Given the description of an element on the screen output the (x, y) to click on. 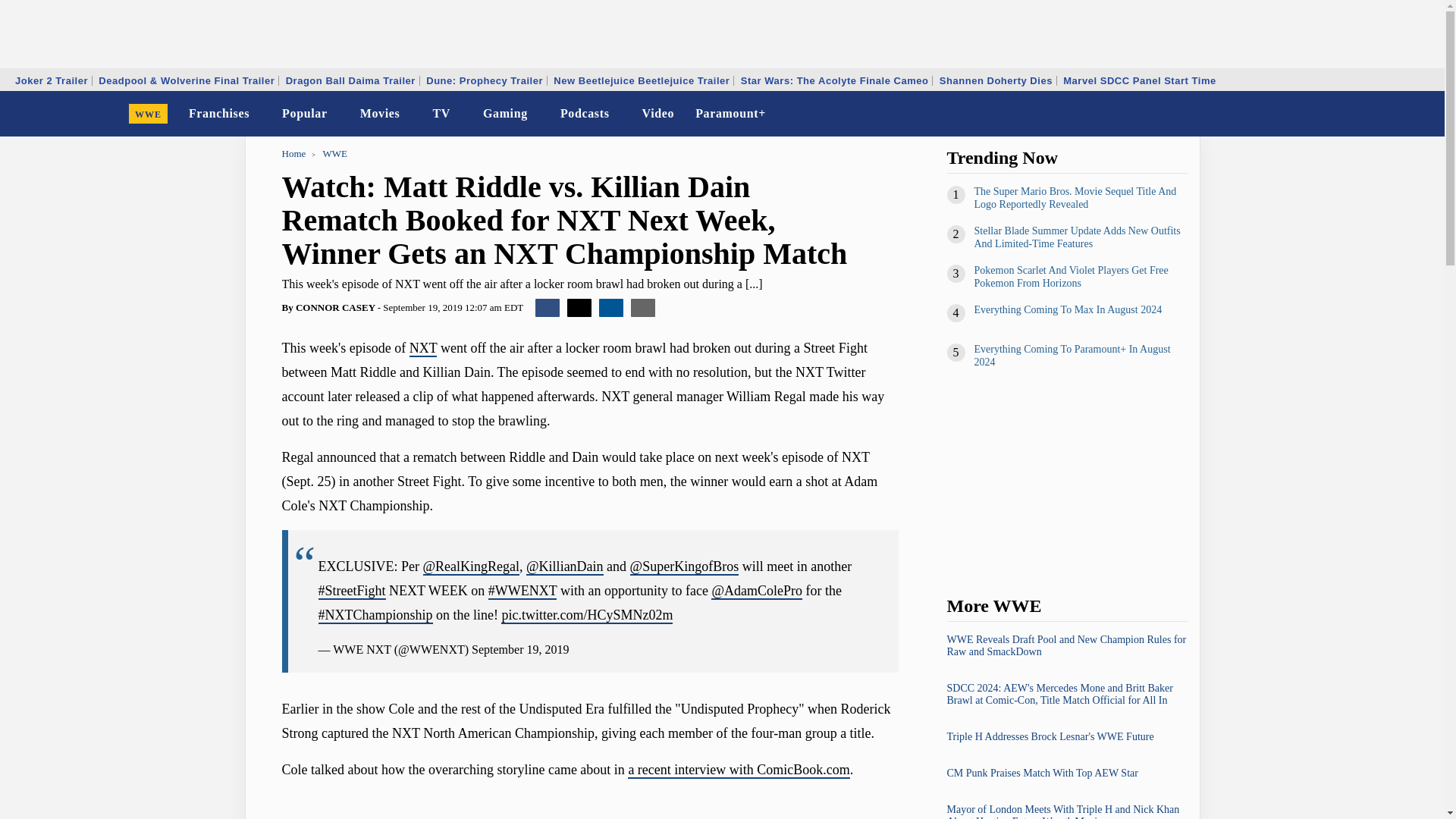
Joker 2 Trailer (51, 80)
New Beetlejuice Beetlejuice Trailer (641, 80)
Dune: Prophecy Trailer (484, 80)
WWE (148, 113)
Marvel SDCC Panel Start Time (1139, 80)
Popular (304, 113)
Shannen Doherty Dies (996, 80)
Star Wars: The Acolyte Finale Cameo (834, 80)
Dark Mode (1394, 113)
Dragon Ball Daima Trailer (350, 80)
Search (1422, 114)
Movies (379, 113)
